Given the description of an element on the screen output the (x, y) to click on. 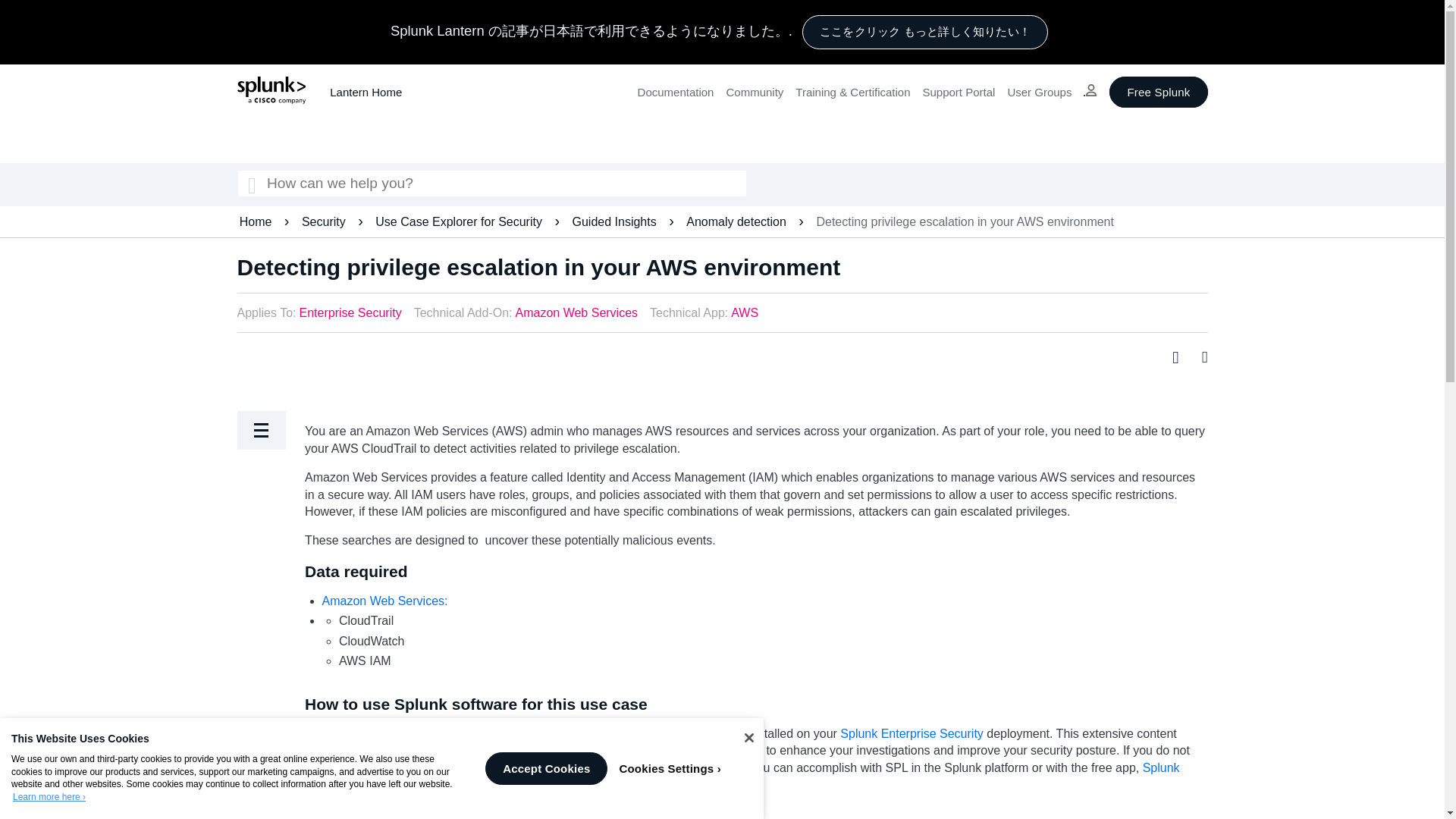
Community (754, 91)
User Groups (1039, 91)
Enterprise Security (349, 312)
AWS (744, 312)
Search (250, 184)
Lantern Home (365, 91)
Free Splunk (1158, 91)
Use Case Explorer for Security (459, 221)
Documentation (675, 91)
Amazon Web Services (577, 312)
Home (257, 221)
Anomaly detection (737, 221)
Support Portal (957, 91)
Guided Insights (616, 221)
Security (325, 221)
